Given the description of an element on the screen output the (x, y) to click on. 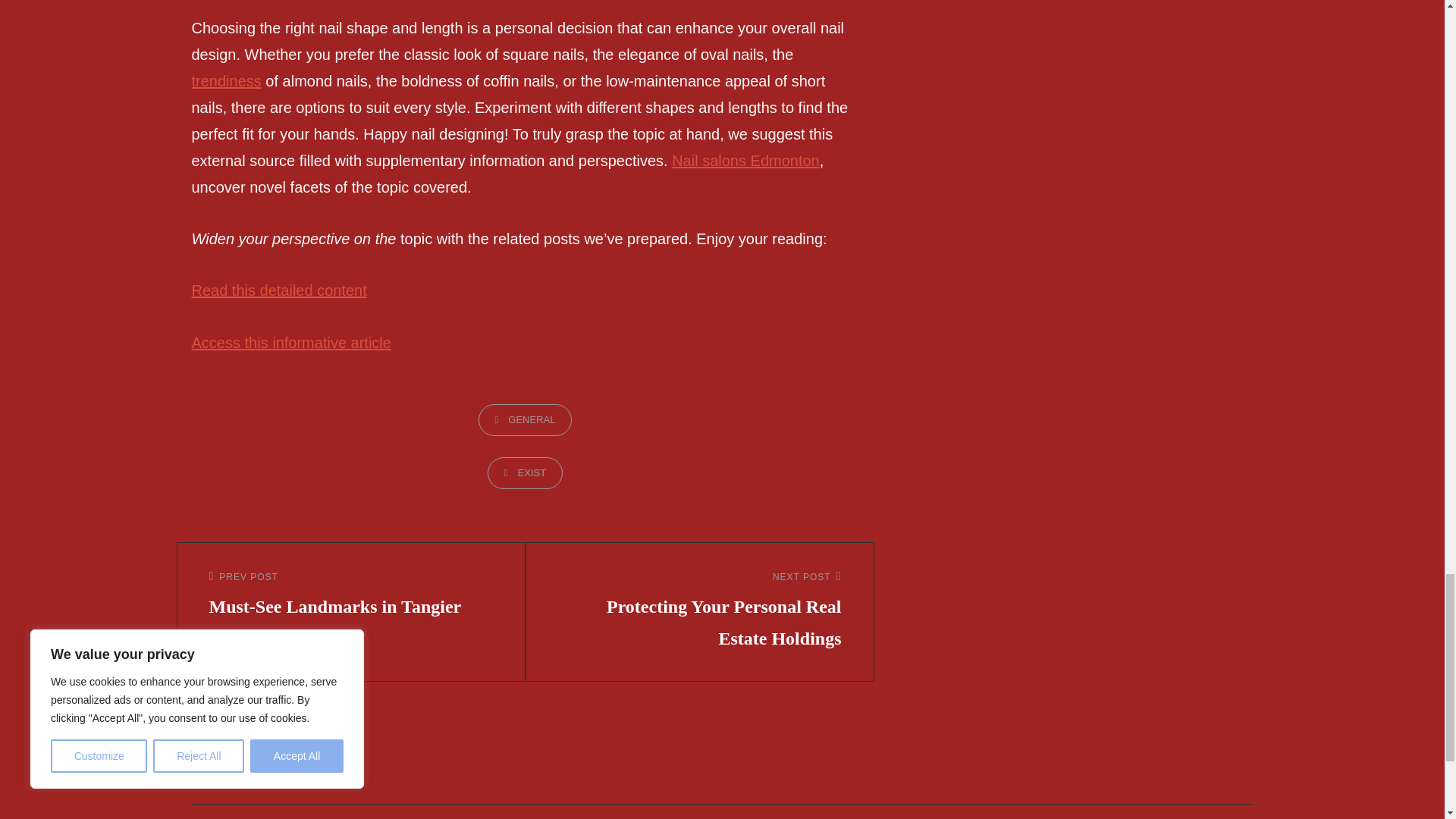
GENERAL (525, 419)
trendiness (225, 80)
EXIST (524, 472)
Nail salons Edmonton (745, 160)
Access this informative article (290, 342)
Read this detailed content (351, 595)
